Given the description of an element on the screen output the (x, y) to click on. 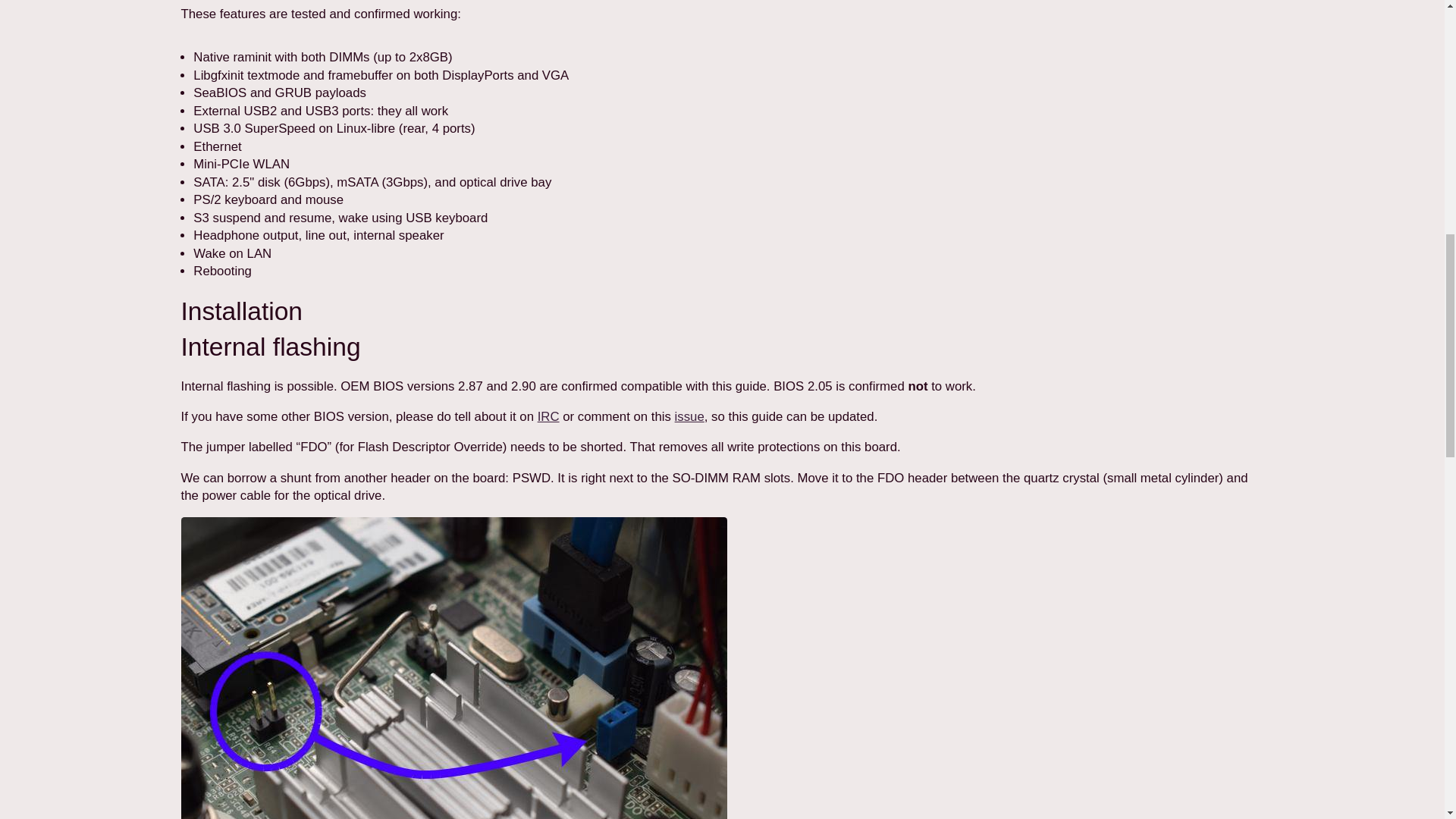
IRC (548, 416)
issue (689, 416)
